Given the description of an element on the screen output the (x, y) to click on. 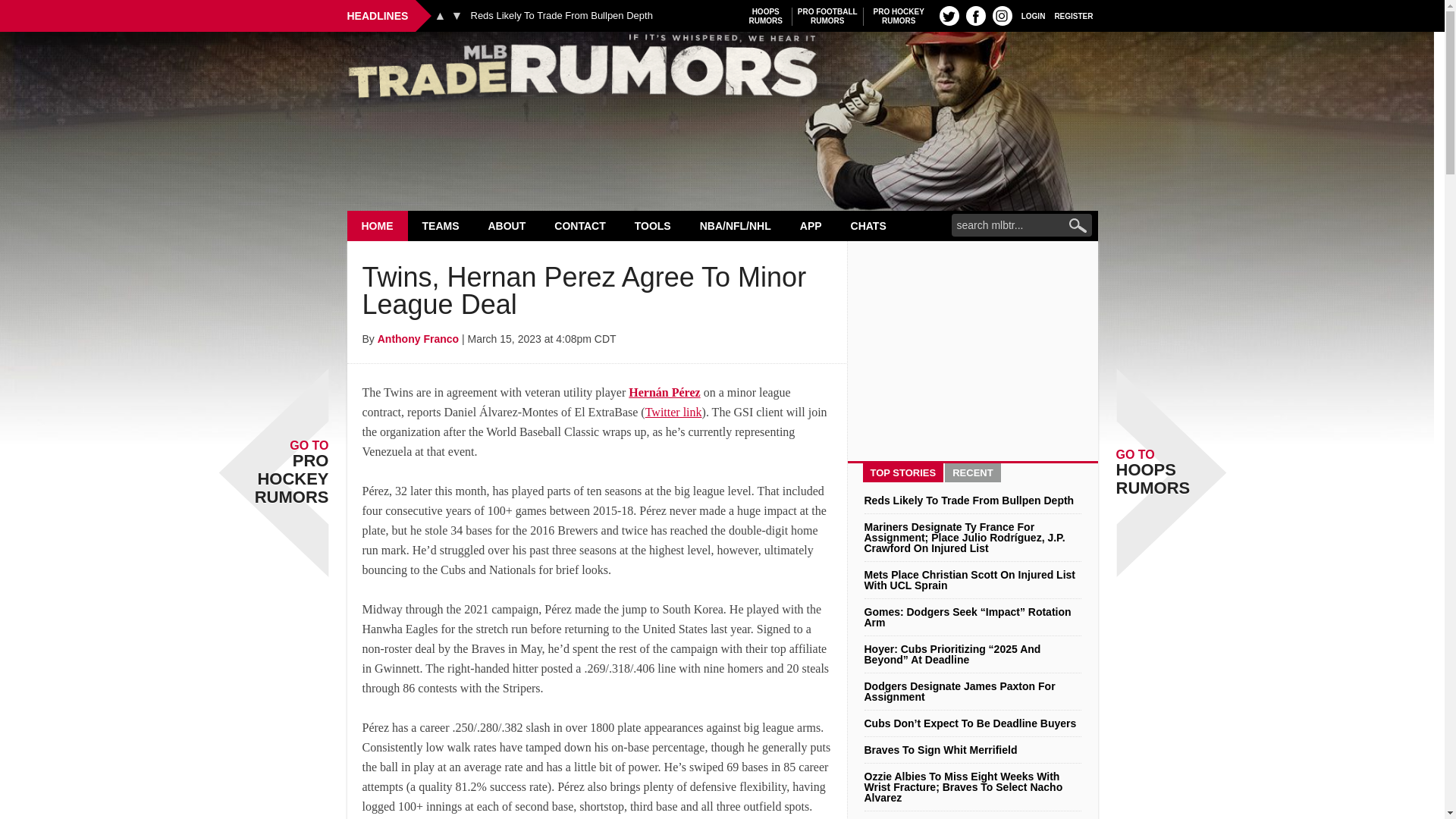
TEAMS (440, 225)
Twitter profile (949, 15)
Instagram profile (827, 16)
Next (1001, 15)
Reds Likely To Trade From Bullpen Depth (456, 15)
LOGIN (561, 15)
MLB Trade Rumors (765, 16)
FB profile (898, 16)
REGISTER (1032, 15)
Previous (722, 69)
HOME (975, 15)
